Given the description of an element on the screen output the (x, y) to click on. 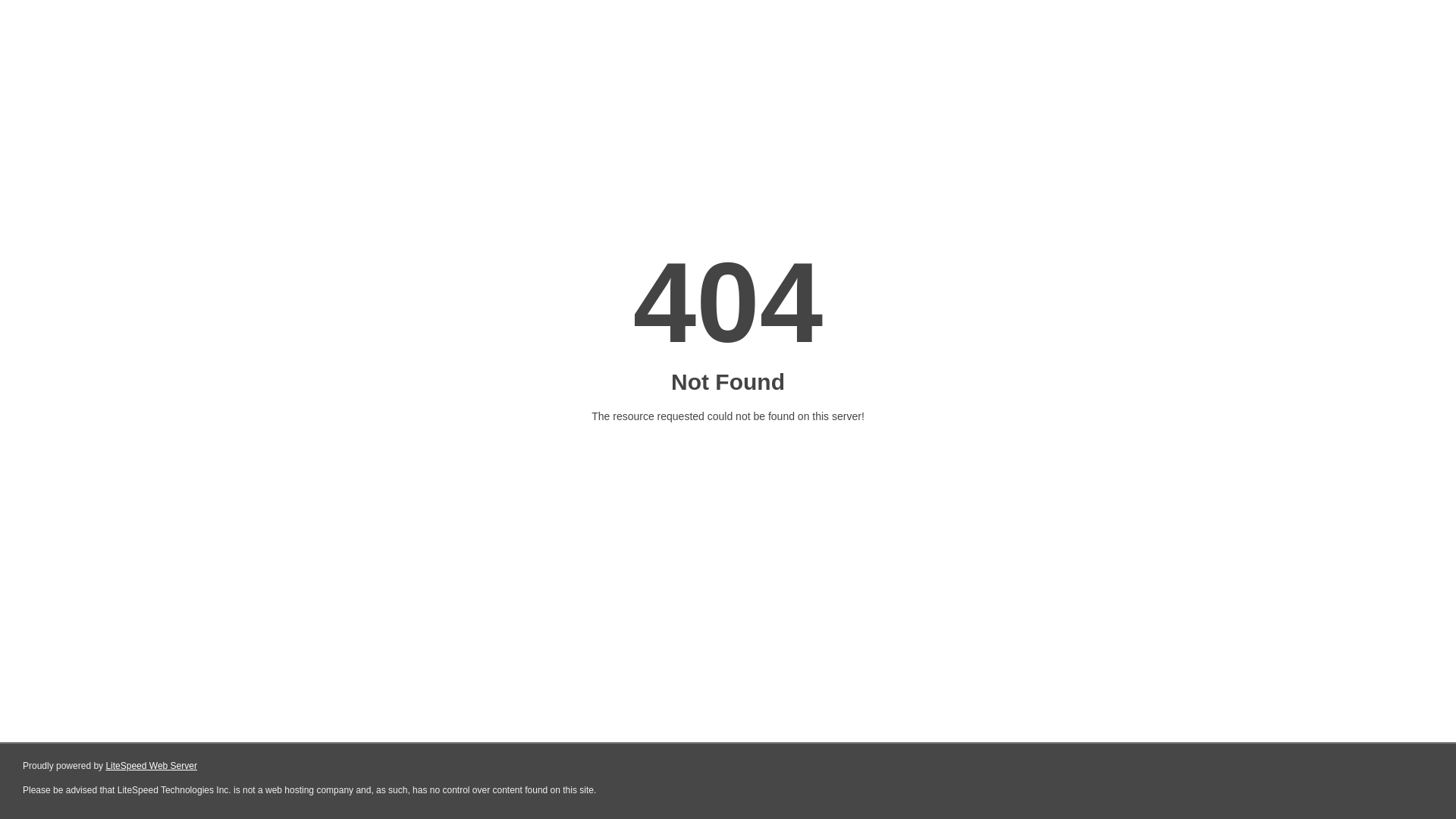
LiteSpeed Web Server (150, 765)
